Given the description of an element on the screen output the (x, y) to click on. 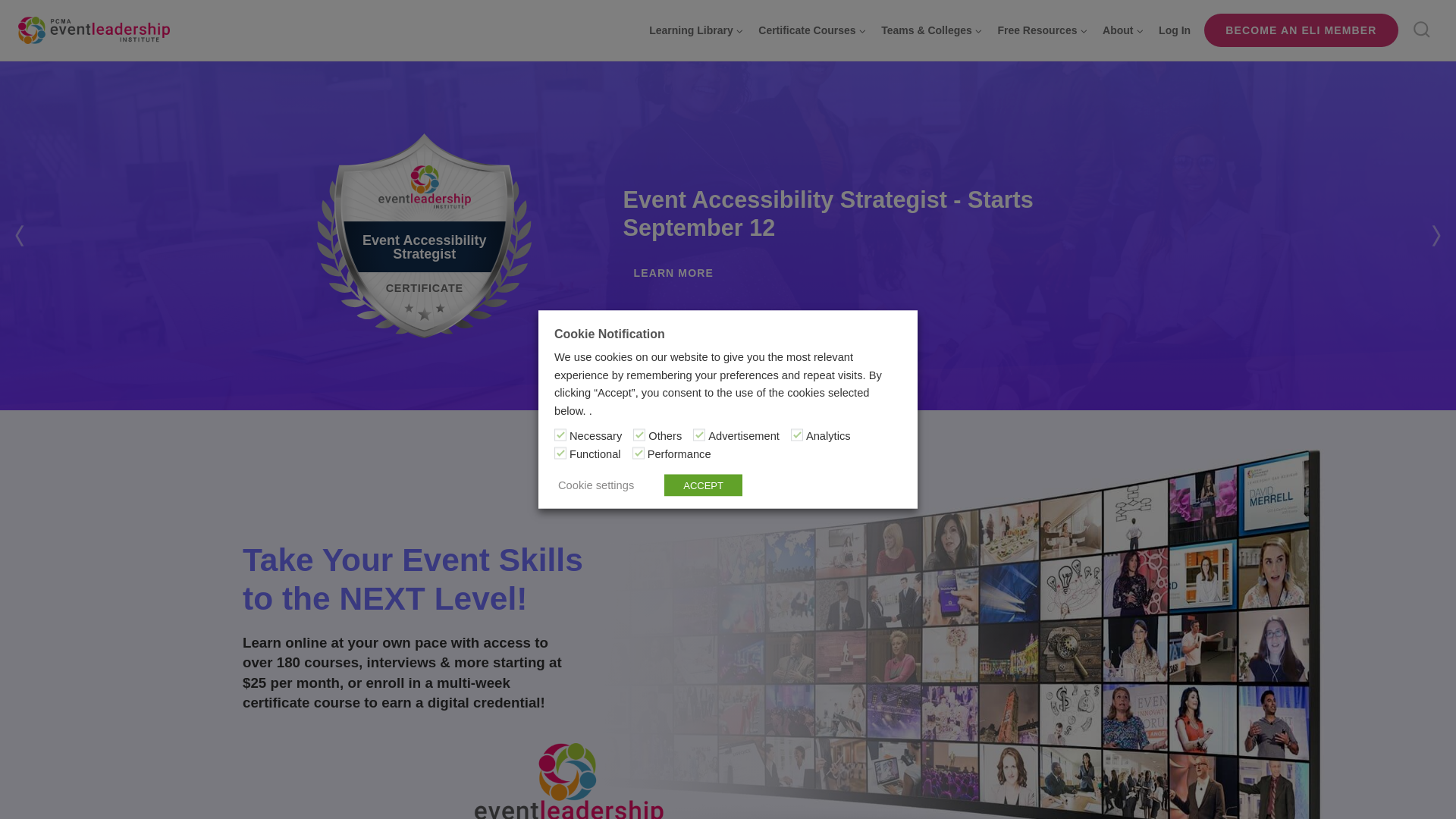
on (560, 435)
on (560, 452)
Learning Library (696, 30)
on (638, 452)
on (698, 435)
on (796, 435)
Certificate Courses (812, 30)
on (639, 435)
Free Resources (1043, 30)
ELI Logo Square Black (576, 780)
